Given the description of an element on the screen output the (x, y) to click on. 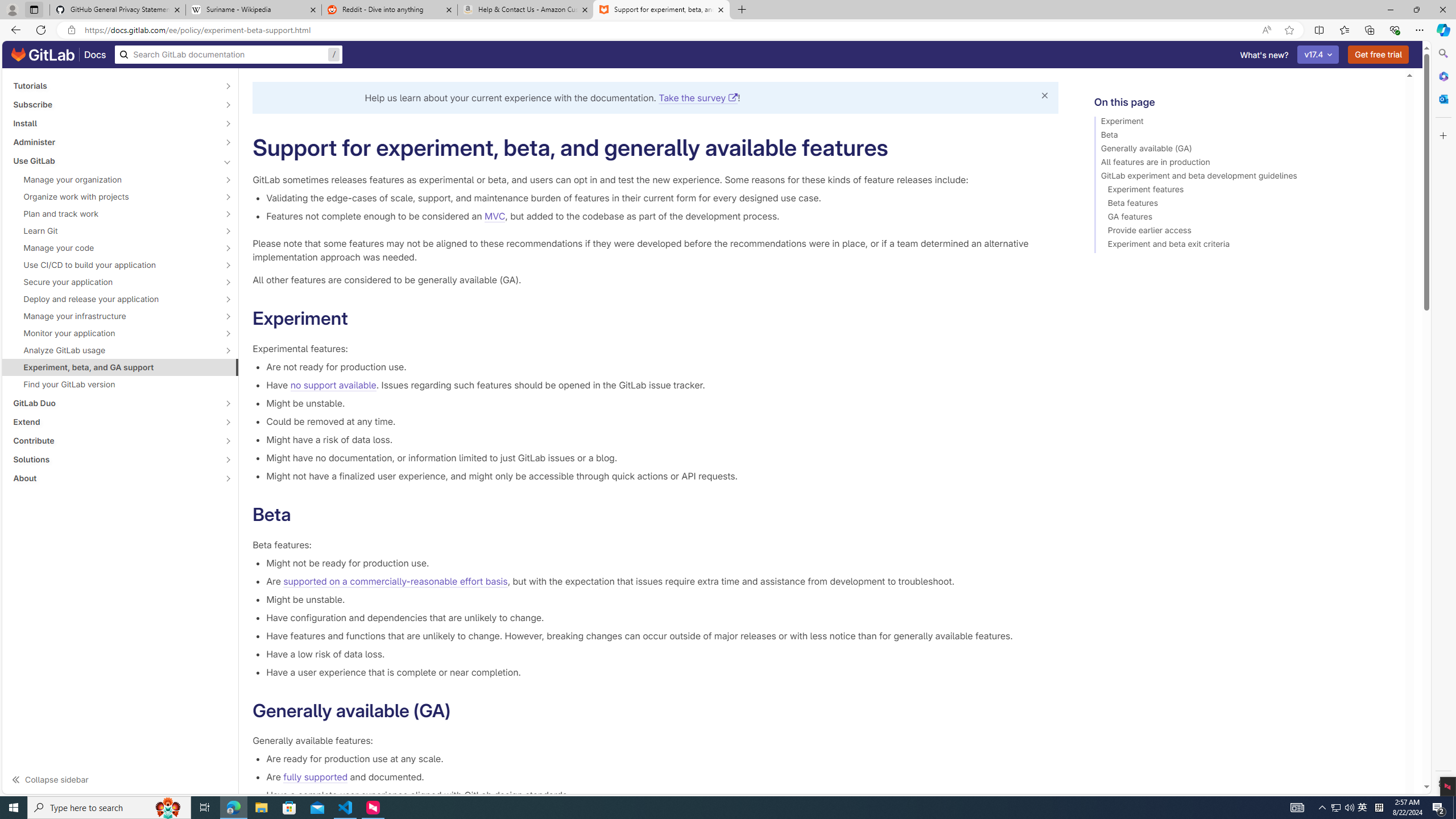
Have a low risk of data loss. (662, 653)
GitLab documentation home Docs (58, 53)
MVC (494, 216)
Experiment (1244, 123)
All features are in production (1244, 164)
What's new? (1263, 54)
supported on a commercially-reasonable effort basis (395, 580)
Experiment and beta exit criteria (1244, 246)
Help & Contact Us - Amazon Customer Service - Sleeping (525, 9)
Contribute (113, 440)
